Given the description of an element on the screen output the (x, y) to click on. 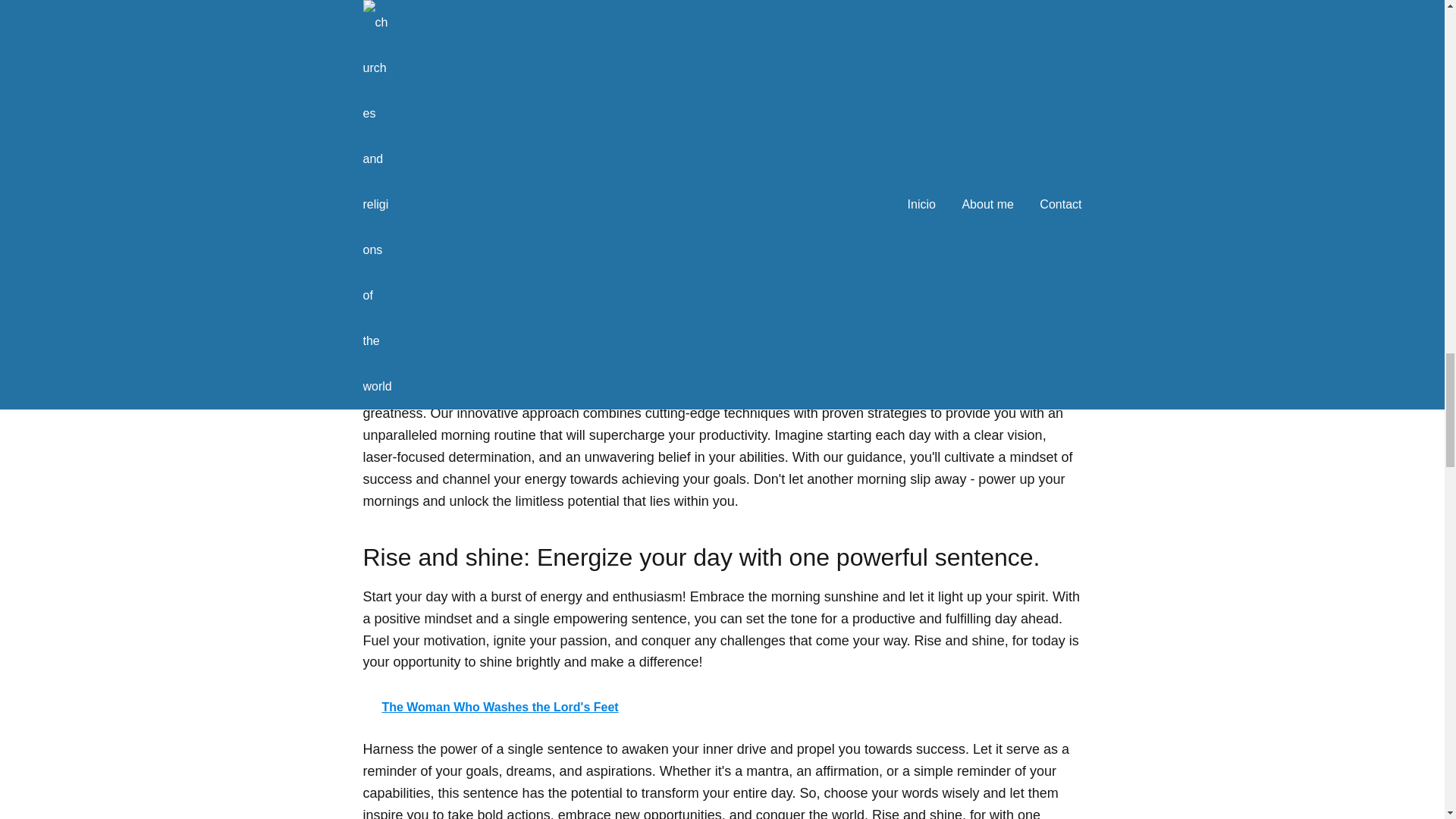
  The Woman Who Washes the Lord's Feet (721, 707)
